Given the description of an element on the screen output the (x, y) to click on. 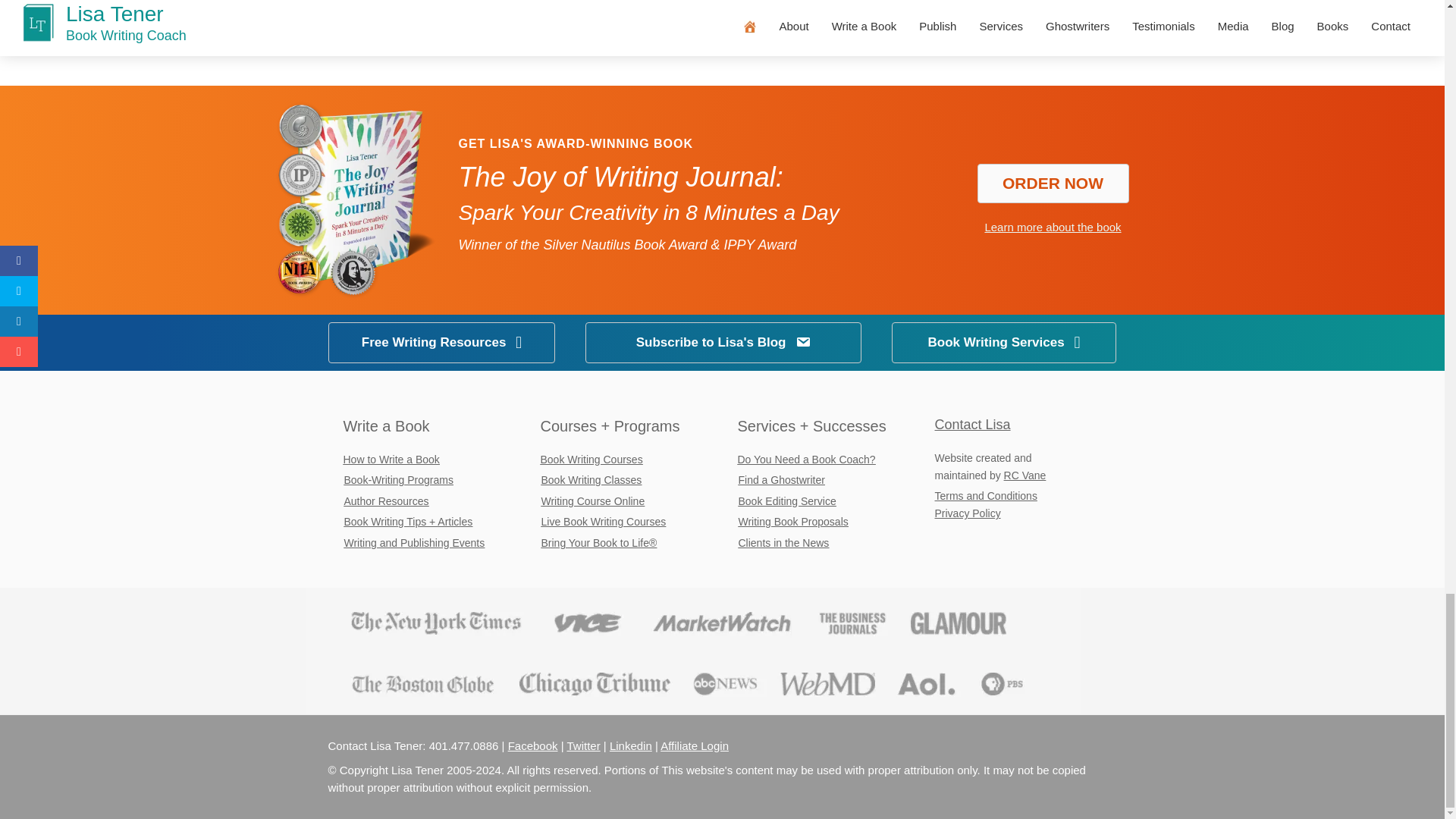
Contact Lisa (972, 424)
Affiliate Login (695, 745)
Screen Shot 2020-09-07 at 10.05.50 PM (692, 651)
Lisa Tener on Facebook (532, 745)
Terms (985, 495)
Lisa Tener on Linkedin (631, 745)
Lisa Tener on Twitter (582, 745)
Privacy Policy (967, 512)
